Given the description of an element on the screen output the (x, y) to click on. 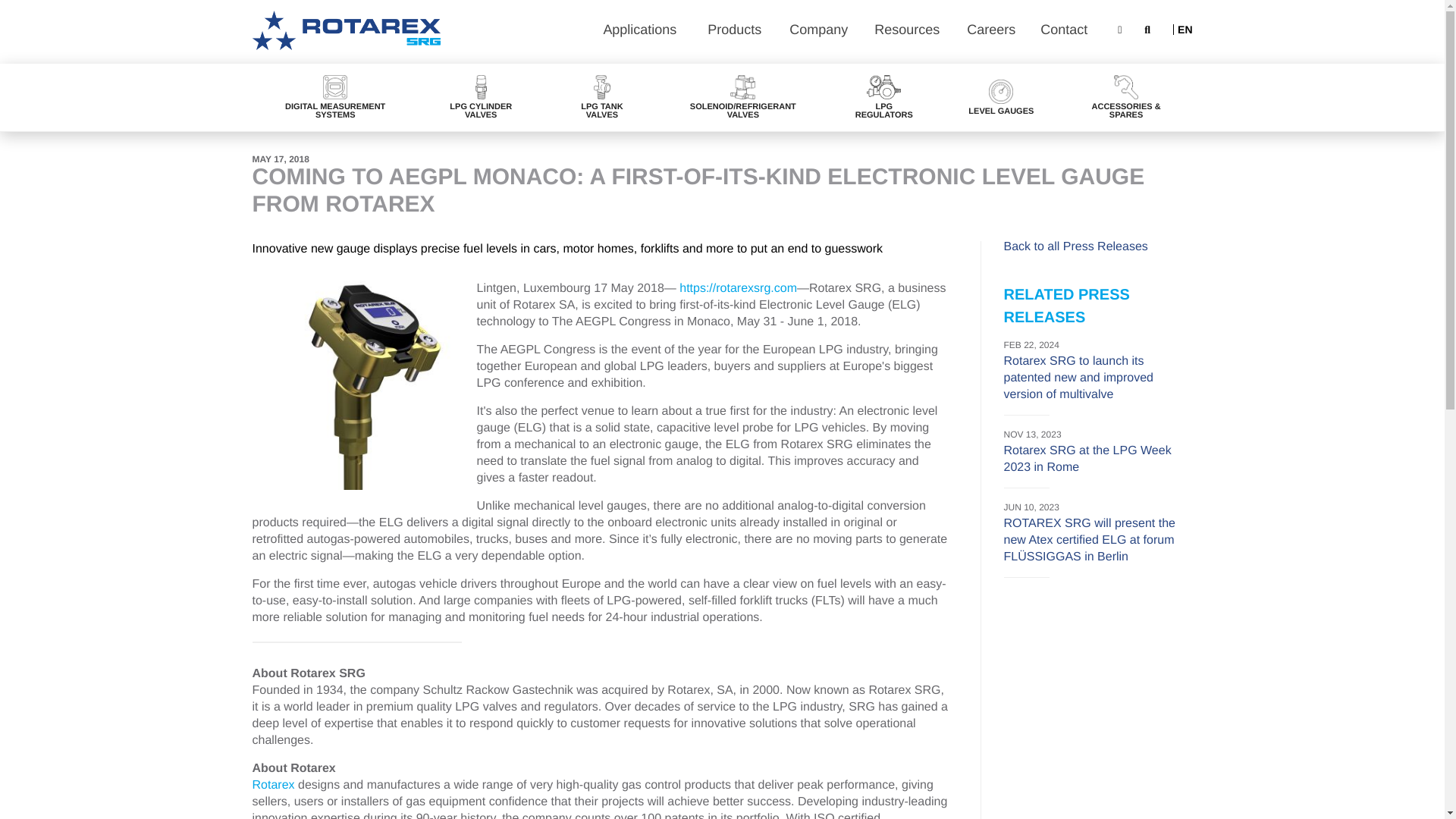
Products (737, 31)
Applications (643, 31)
Applications (643, 31)
